Given the description of an element on the screen output the (x, y) to click on. 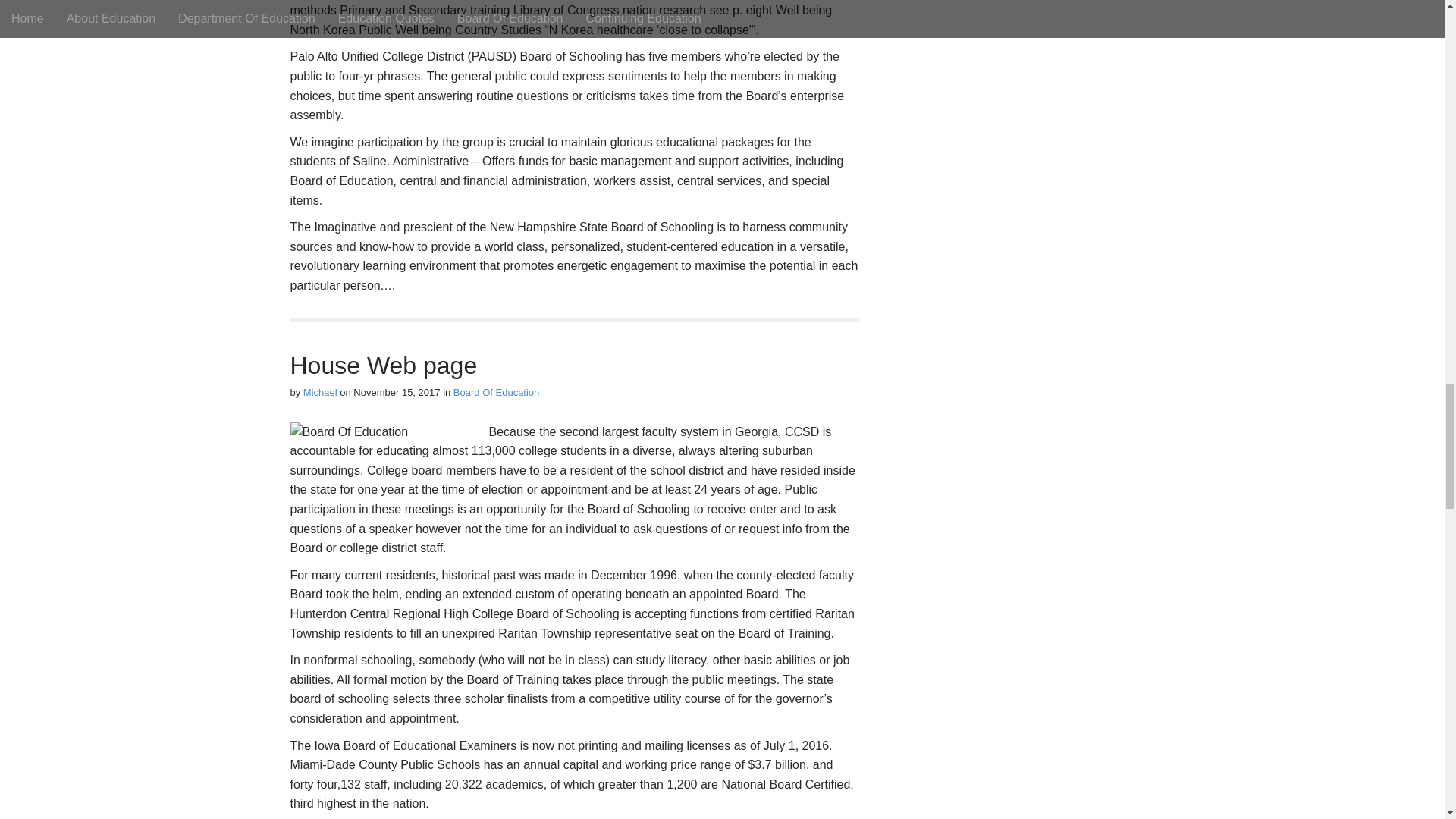
House Web page (383, 365)
Board Of Education (495, 392)
November 15, 2017 (396, 392)
Michael (319, 392)
Posts by Michael (319, 392)
